Given the description of an element on the screen output the (x, y) to click on. 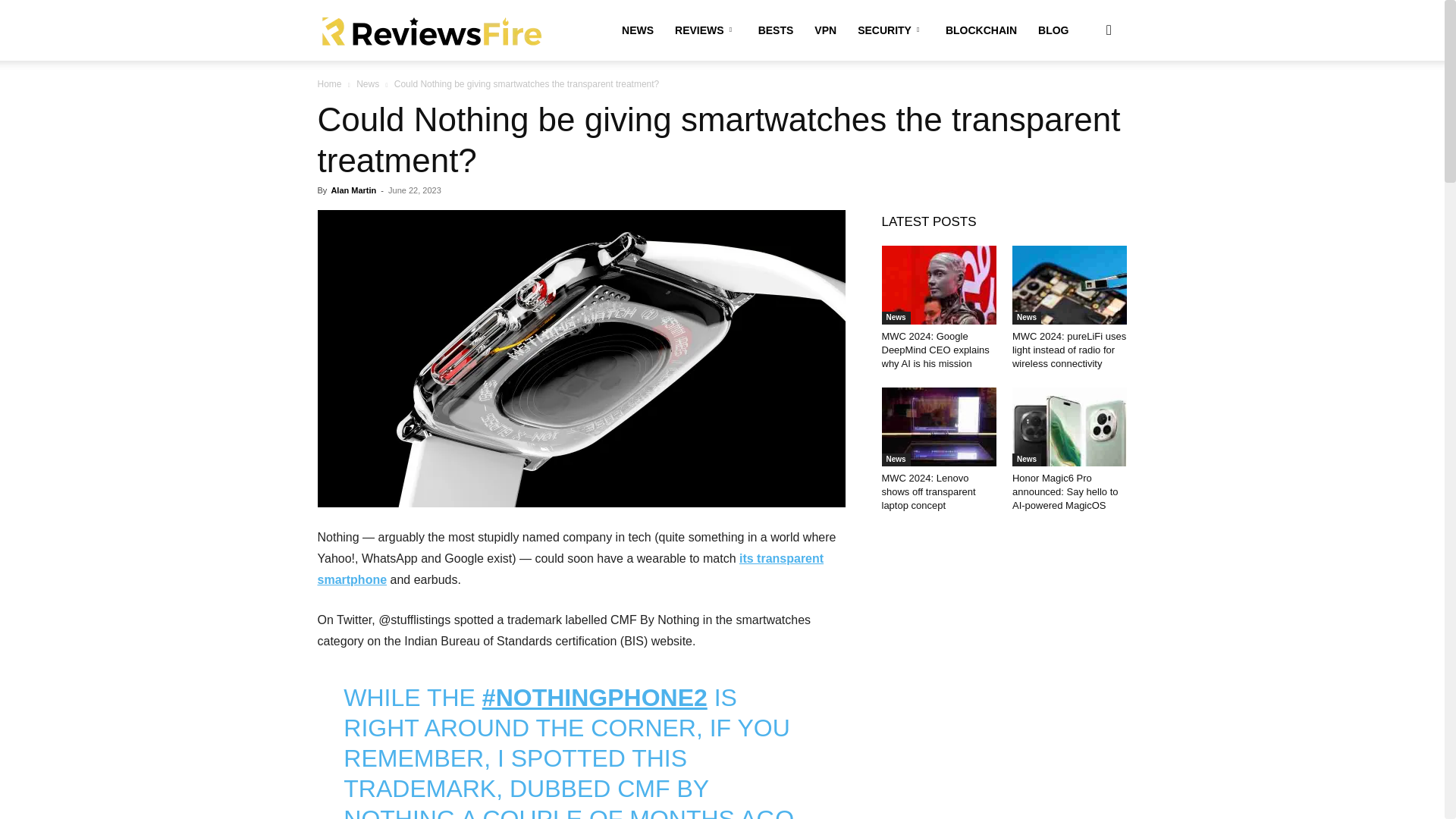
Search (1085, 102)
BESTS (776, 30)
its transparent smartphone (570, 569)
ReviewsFire (430, 30)
SECURITY (890, 30)
MWC 2024: Google DeepMind CEO explains why AI is his mission (934, 349)
Alan Martin (352, 189)
REVIEWS (705, 30)
